Given the description of an element on the screen output the (x, y) to click on. 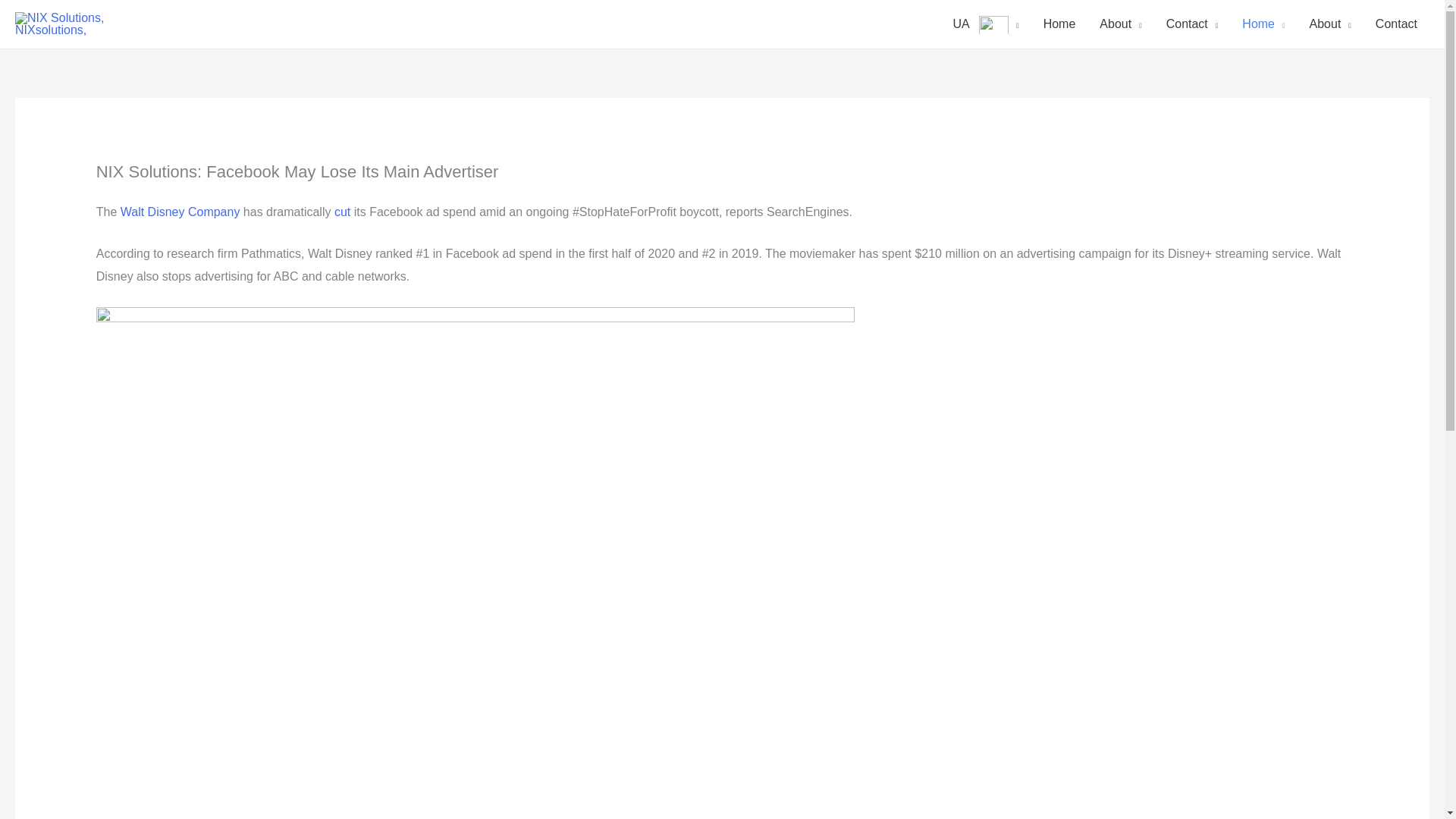
UA   (985, 24)
Contact (1192, 24)
Home (1058, 24)
Ukrainian (993, 24)
About (1120, 24)
